Given the description of an element on the screen output the (x, y) to click on. 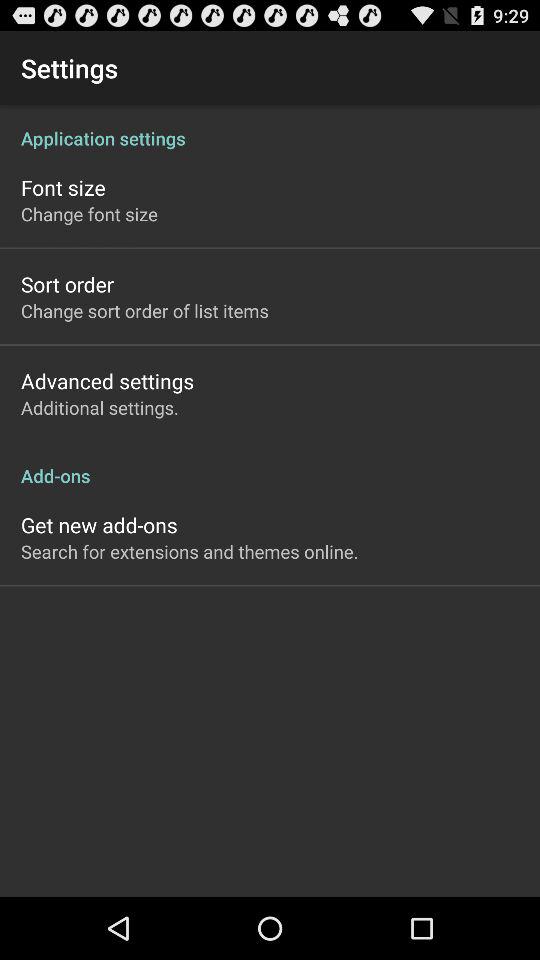
turn on the application settings (270, 127)
